Given the description of an element on the screen output the (x, y) to click on. 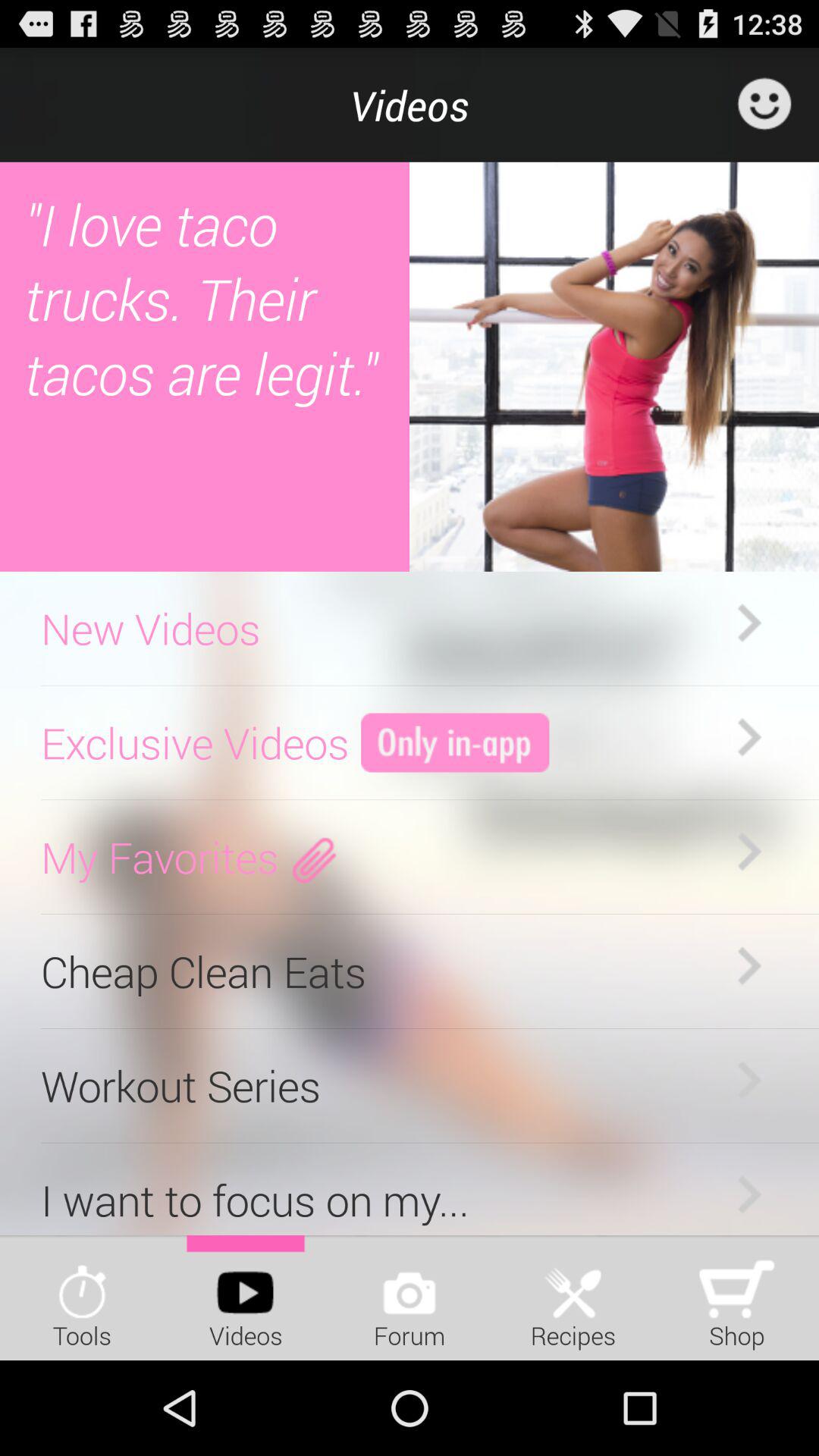
click the first right arrow (749, 624)
click on attach button (314, 857)
select icon under recipes (573, 1285)
click on second right arrow (749, 737)
